Given the description of an element on the screen output the (x, y) to click on. 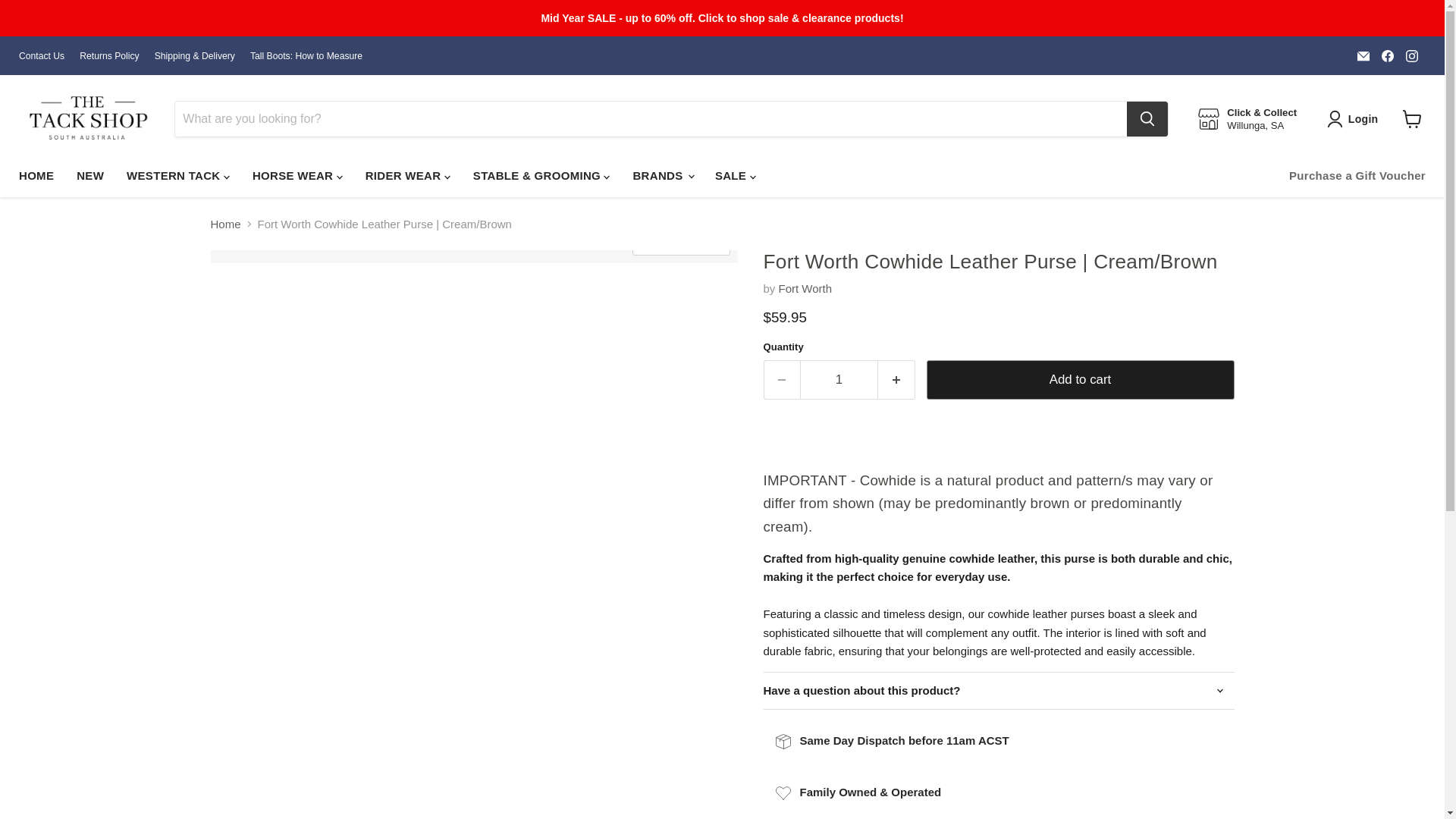
Facebook (1387, 55)
View cart (1411, 118)
HOME (36, 174)
Fort Worth (805, 287)
Tall Boots: How to Measure (306, 55)
Email (1363, 55)
Find us on Facebook (1387, 55)
Email The Tack Shop (1363, 55)
1 (838, 379)
NEW (90, 174)
Contact Us (41, 55)
Login (1355, 118)
Instagram (1411, 55)
Find us on Instagram (1411, 55)
Returns Policy (109, 55)
